Given the description of an element on the screen output the (x, y) to click on. 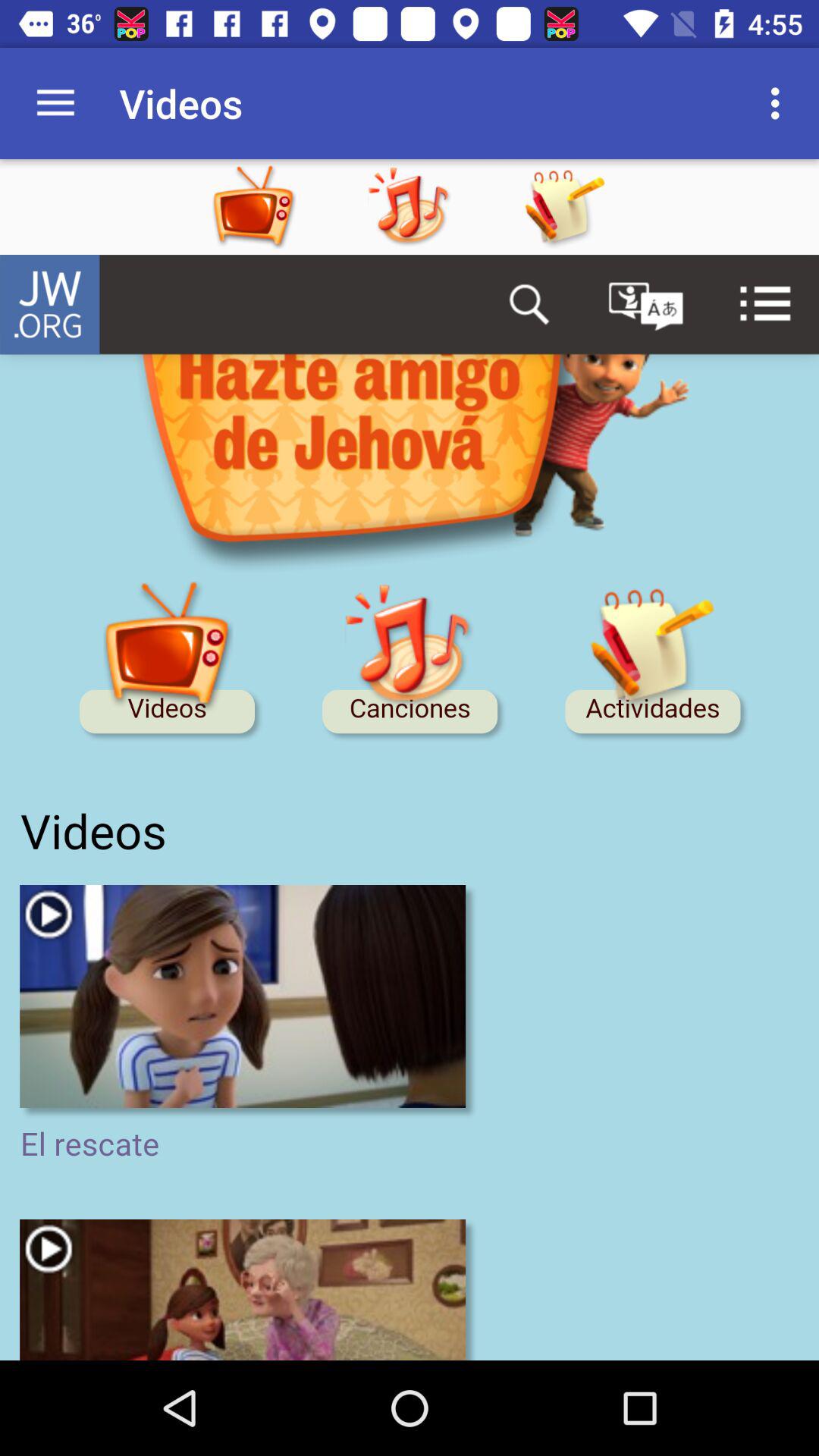
videos button (283, 206)
